Given the description of an element on the screen output the (x, y) to click on. 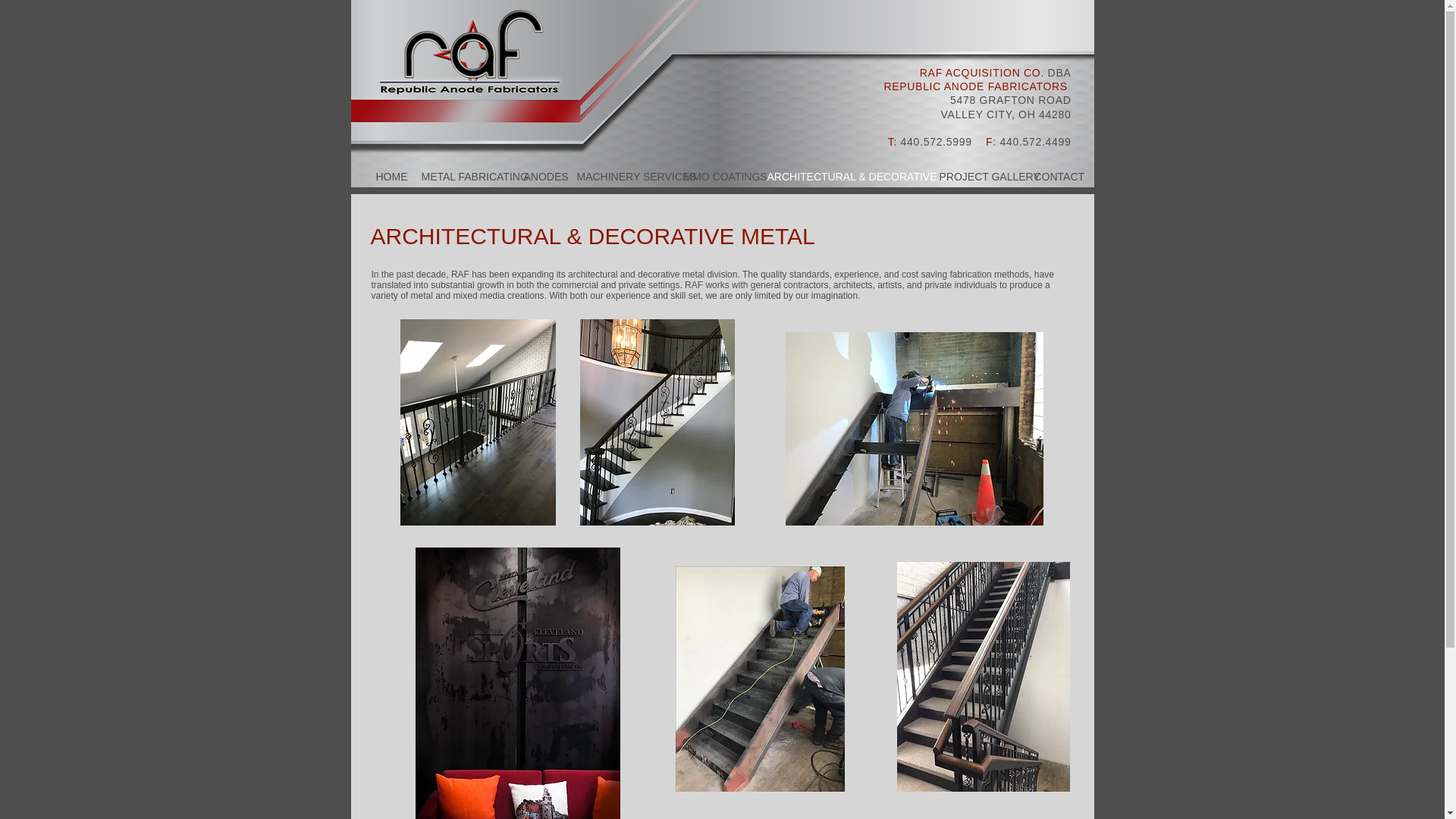
CONTACT (1051, 176)
HOME (386, 176)
PROJECT GALLERY (975, 176)
METAL FABRICATING (460, 176)
ANODES (539, 176)
MACHINERY SERVICES (619, 176)
MMO COATINGS (713, 176)
